Given the description of an element on the screen output the (x, y) to click on. 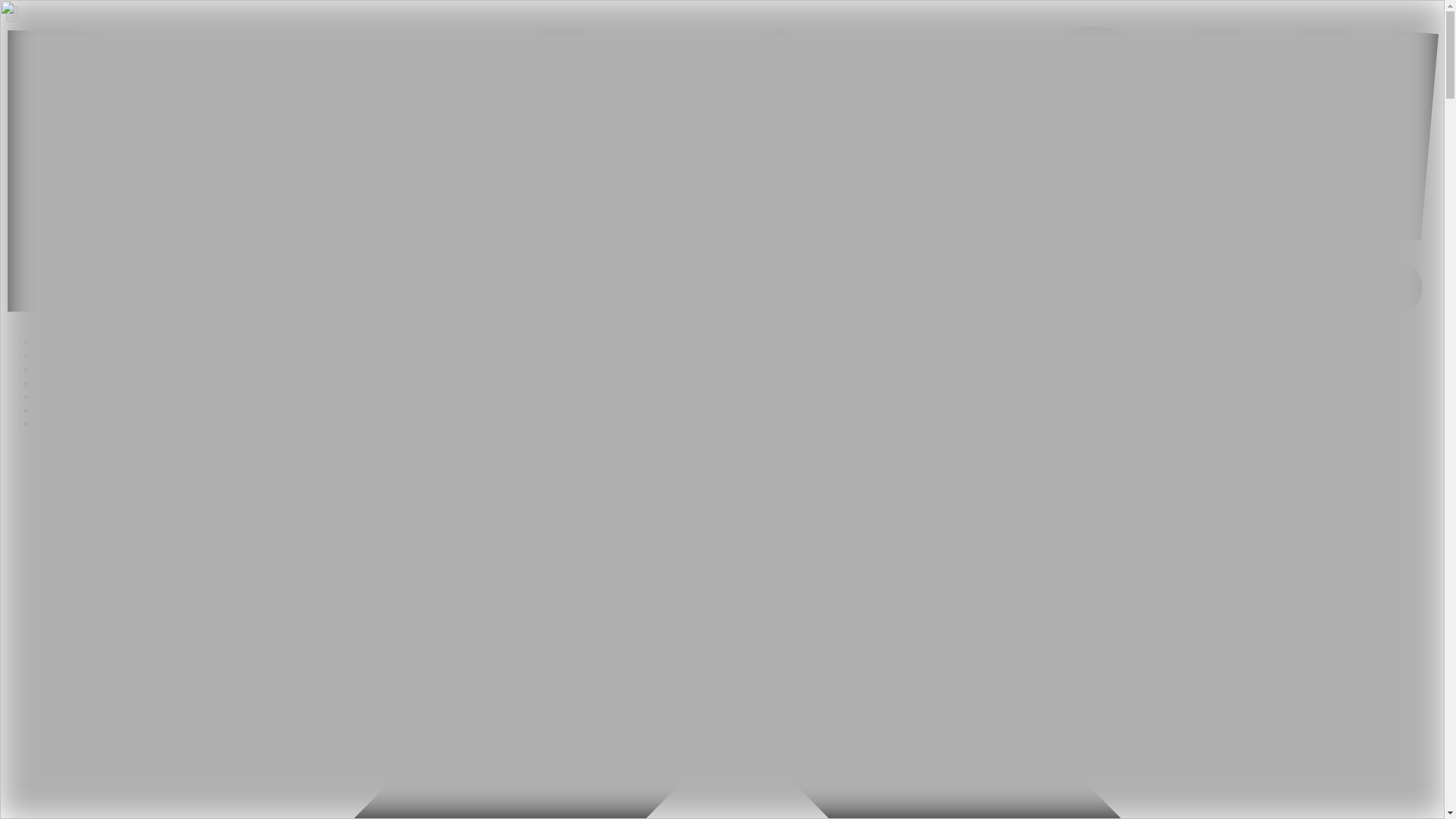
Homes (52, 354)
Stays (49, 395)
Dream Careers Hub (84, 409)
Lifestyle (58, 422)
Explore (55, 368)
